Given the description of an element on the screen output the (x, y) to click on. 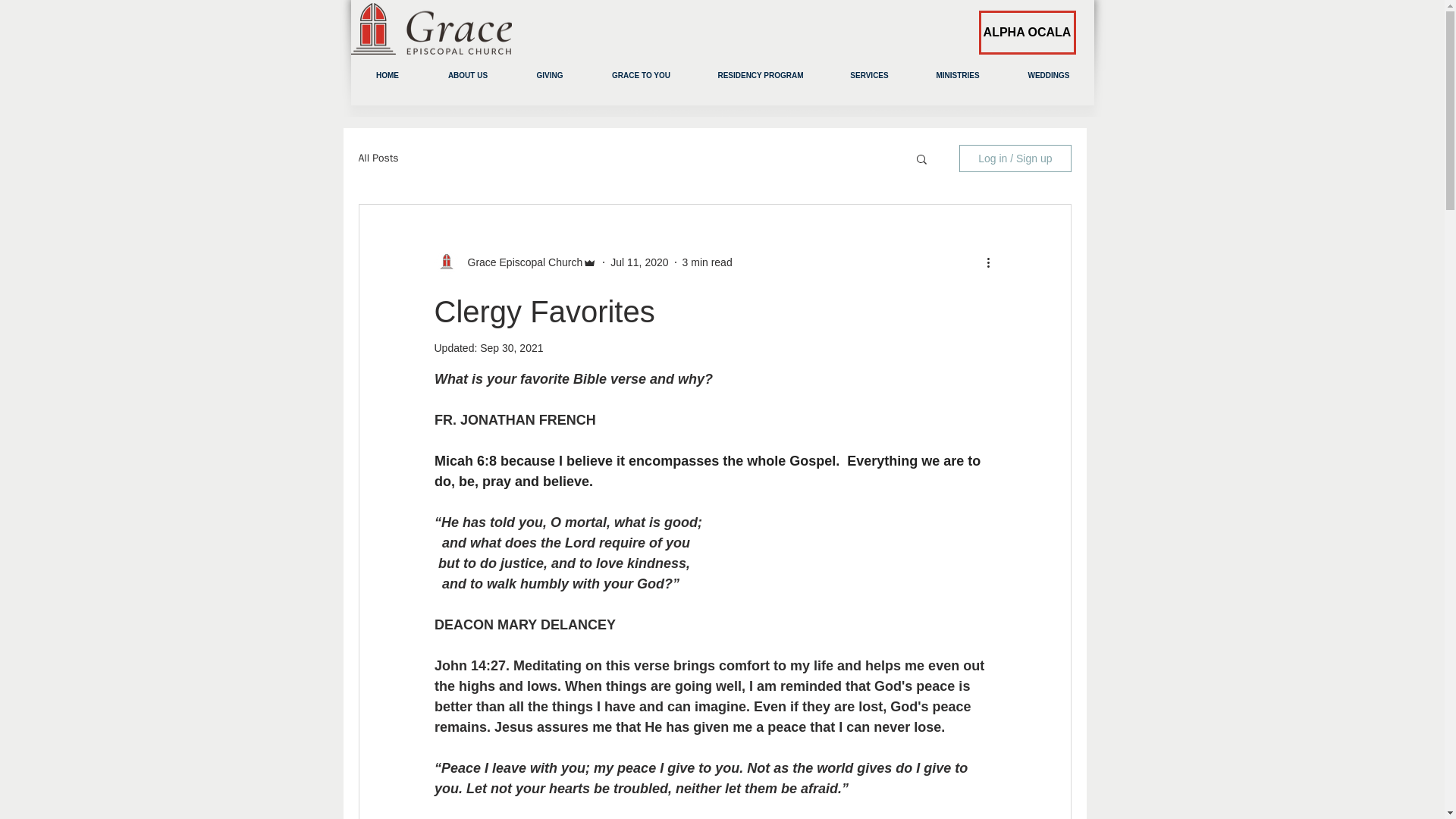
GRACE TO YOU (641, 74)
3 min read (707, 262)
WEDDINGS (1049, 74)
MINISTRIES (957, 74)
Grace Episcopal Church (520, 262)
SERVICES (869, 74)
All Posts (377, 158)
ABOUT US (468, 74)
Sep 30, 2021 (511, 347)
ALPHA OCALA (1026, 32)
HOME (386, 74)
GIVING (549, 74)
RESIDENCY PROGRAM (760, 74)
Jul 11, 2020 (639, 262)
